Given the description of an element on the screen output the (x, y) to click on. 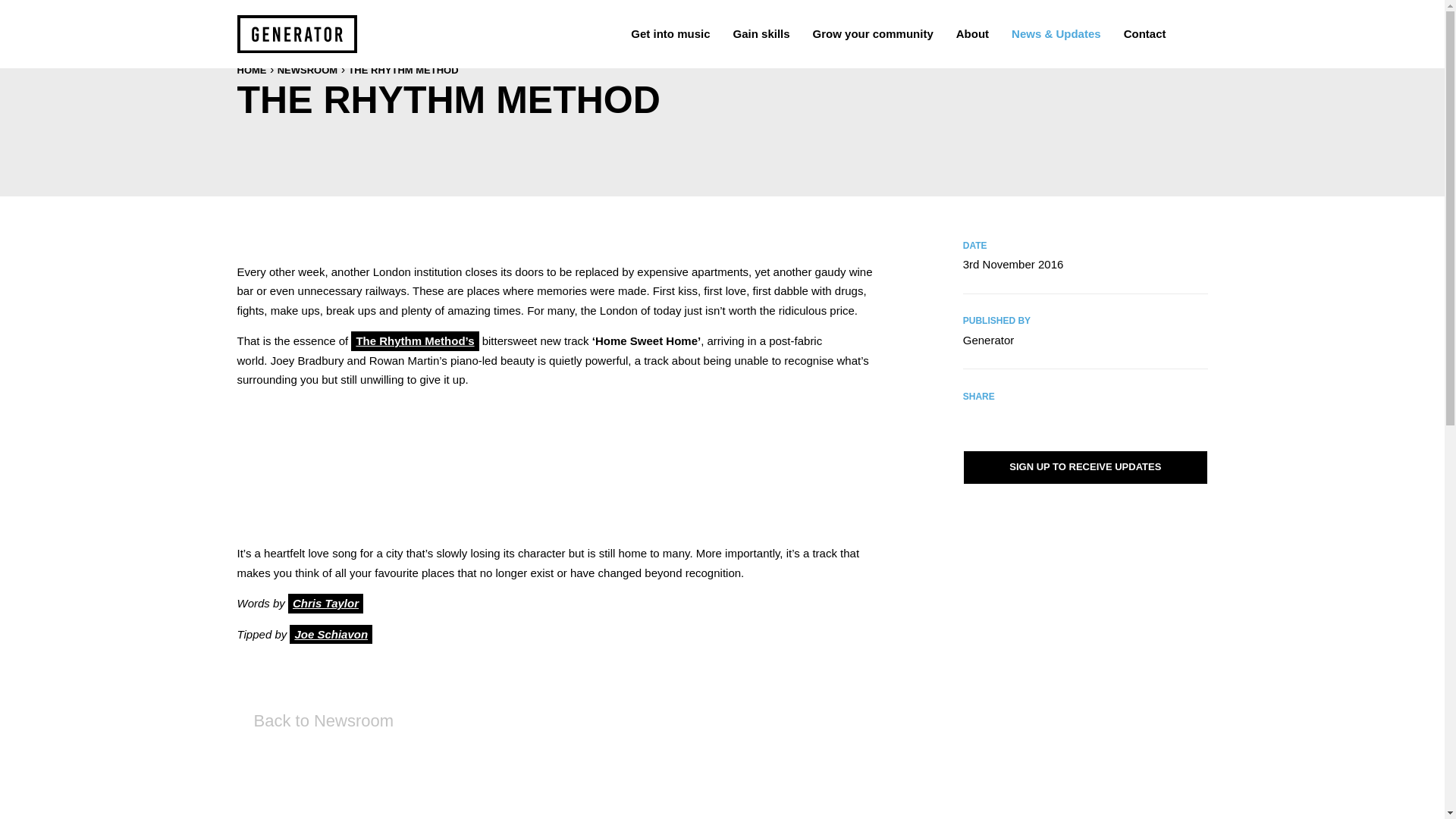
SIGN UP TO RECEIVE UPDATES (1085, 467)
Return to the main Generator website (295, 34)
HOME (250, 70)
Return to the Newsroom (314, 720)
Search Generator (1191, 33)
Gain skills (762, 33)
Back to Newsroom (314, 720)
Grow your community (873, 33)
NEWSROOM (307, 70)
Chris Taylor (325, 603)
Sign up to receive Generator updates (1085, 467)
Get into music (670, 33)
Joe Schiavon (330, 634)
About (972, 33)
Contact (1144, 33)
